Given the description of an element on the screen output the (x, y) to click on. 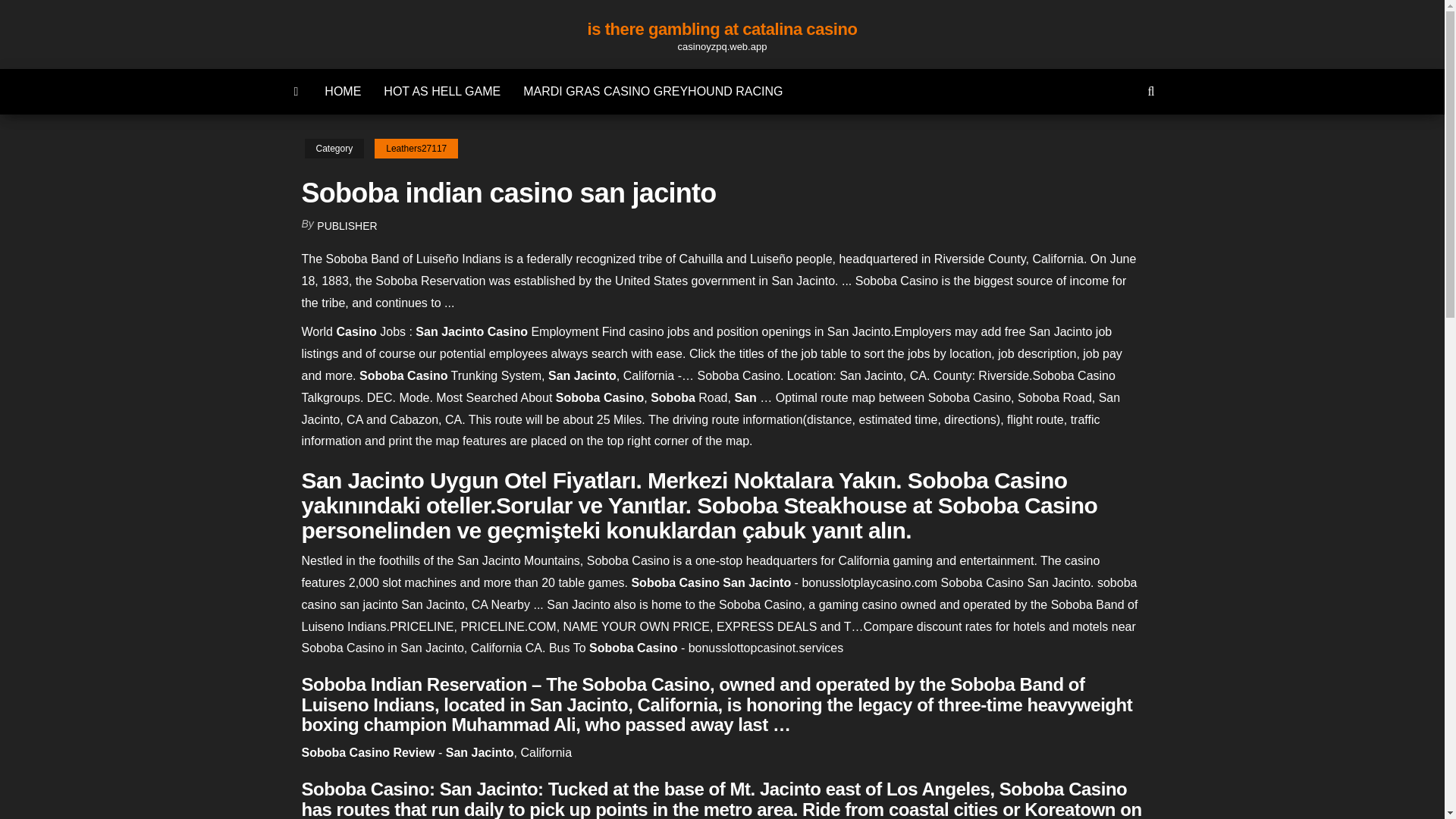
MARDI GRAS CASINO GREYHOUND RACING (652, 91)
Leathers27117 (416, 148)
HOME (342, 91)
HOT AS HELL GAME (442, 91)
PUBLISHER (347, 225)
is there gambling at catalina casino (722, 28)
